Given the description of an element on the screen output the (x, y) to click on. 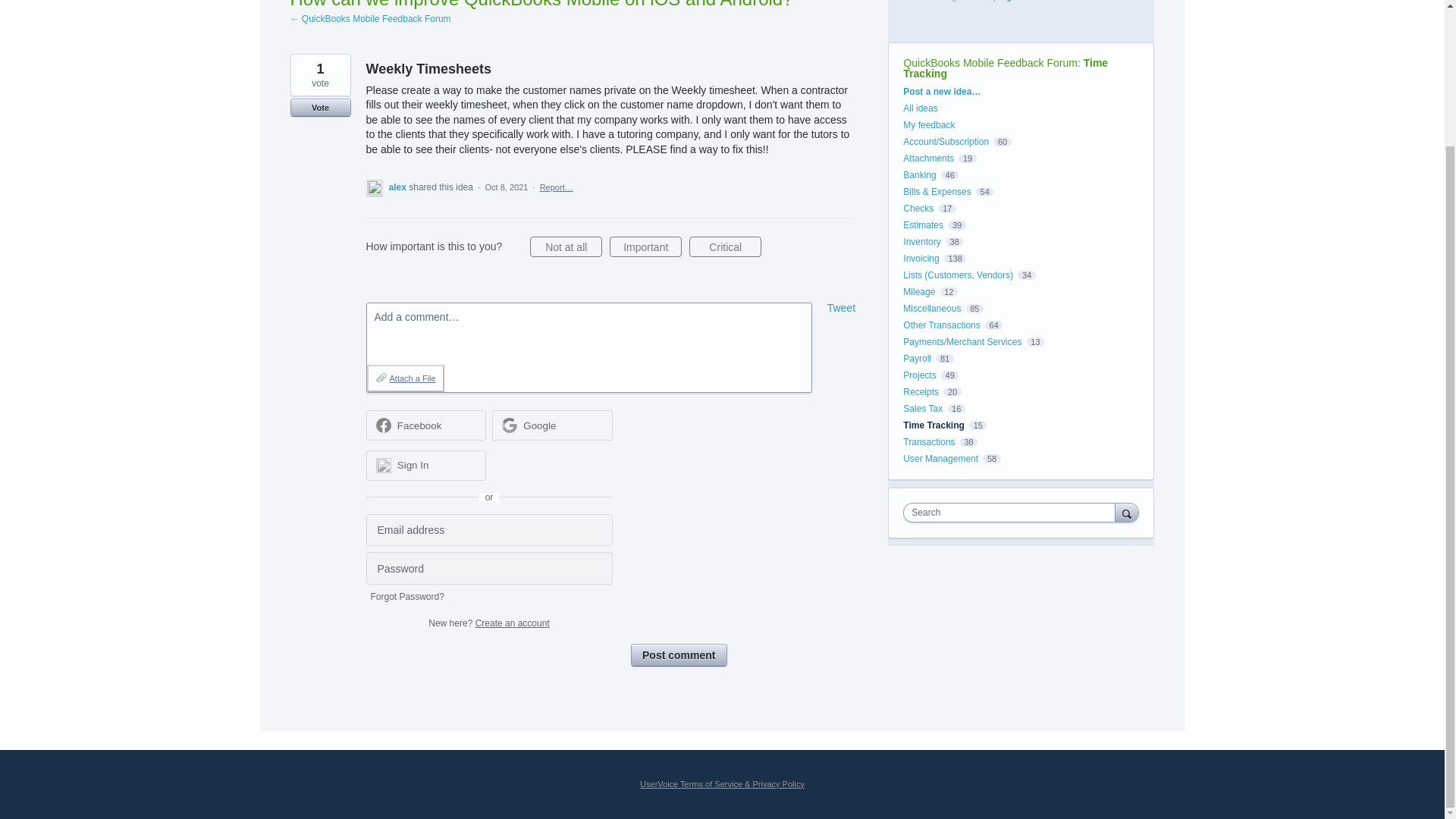
Important (645, 246)
Tweet (841, 307)
Facebook sign in (425, 425)
Forgot Password? (406, 596)
Facebook (419, 425)
Sign In (425, 465)
Vote (319, 107)
Facebook (425, 425)
Attach a File (405, 378)
Not at all (565, 246)
Google (552, 425)
alex (398, 186)
Critical (724, 246)
